Given the description of an element on the screen output the (x, y) to click on. 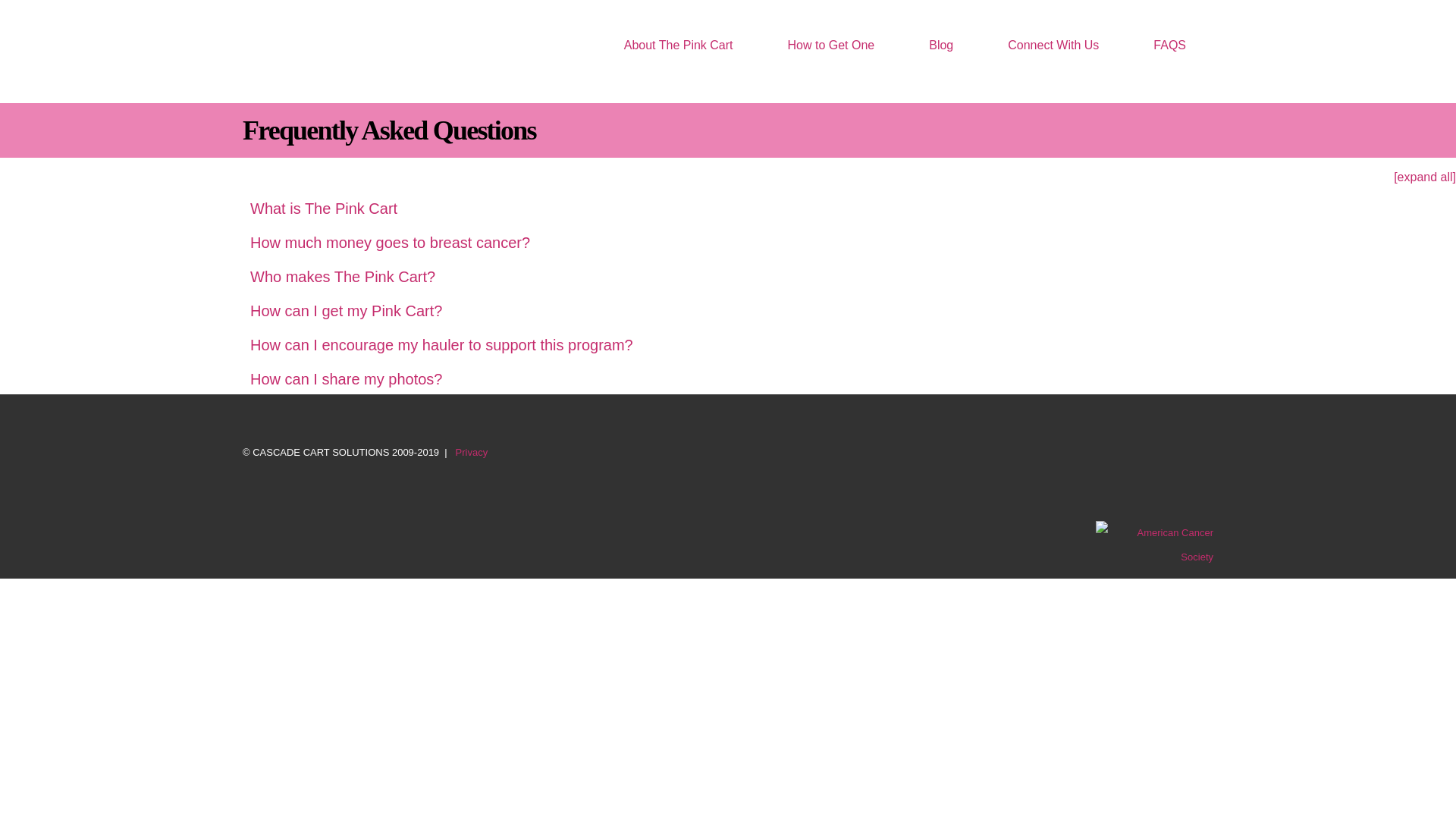
Connect With Us (1052, 45)
About The Pink Cart (678, 45)
Skip to main content (691, 16)
Blog (941, 45)
How can I share my photos? (346, 379)
How much money goes to breast cancer? (389, 242)
FAQS (1169, 45)
How can I encourage my hauler to support this program? (441, 344)
How can I get my Pink Cart? (346, 310)
How to Get One (831, 45)
